Given the description of an element on the screen output the (x, y) to click on. 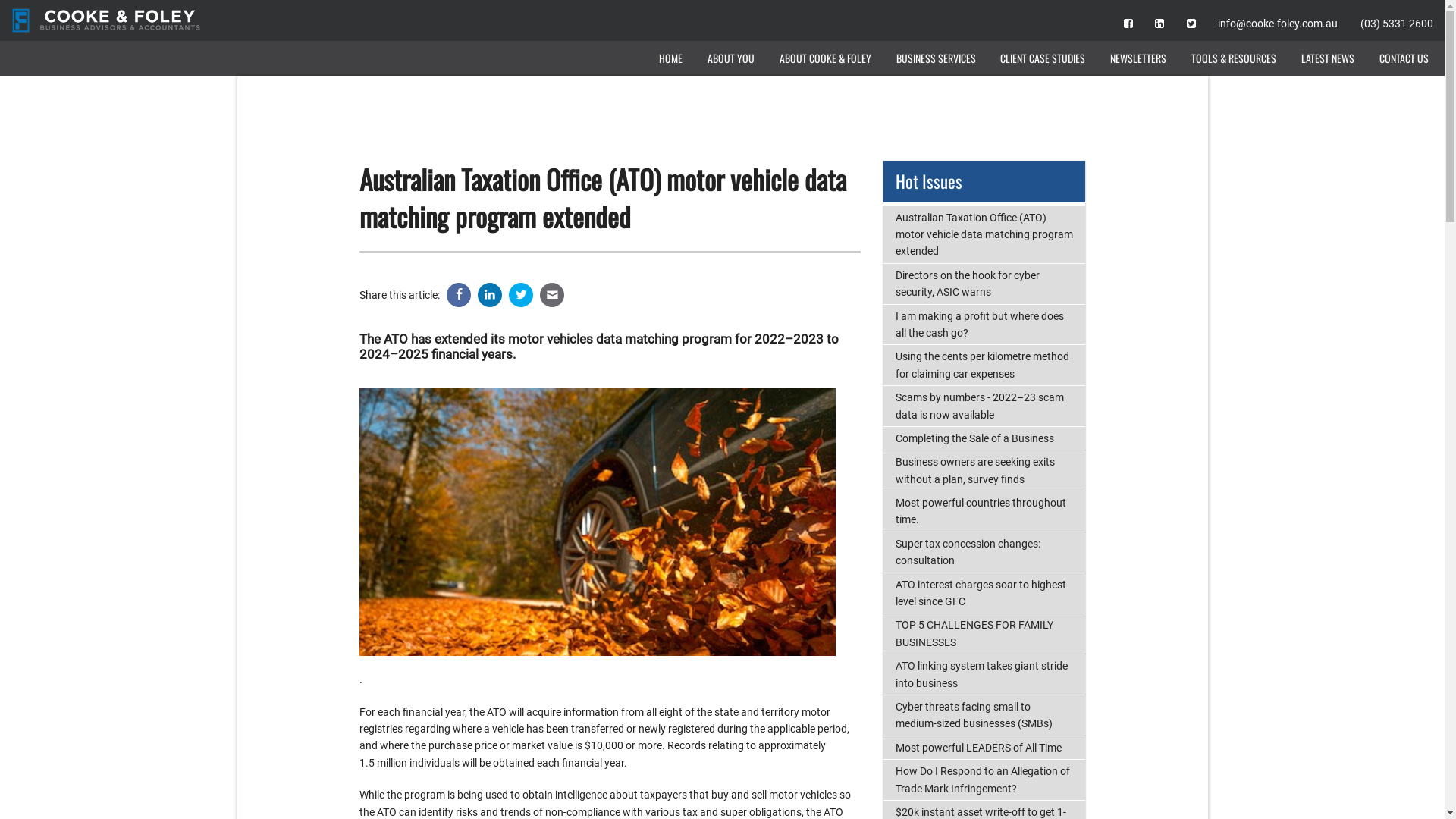
Cyber threats facing small to medium-sized businesses (SMBs) Element type: text (984, 715)
ATO linking system takes giant stride into business Element type: text (984, 674)
Most powerful countries throughout time. Element type: text (984, 511)
ABOUT YOU Element type: text (730, 57)
Directors on the hook for cyber security, ASIC warns Element type: text (984, 283)
CONTACT US Element type: text (1403, 57)
ATO interest charges soar to highest level since GFC Element type: text (984, 593)
TOP 5 CHALLENGES FOR FAMILY BUSINESSES Element type: text (984, 633)
ABOUT COOKE & FOLEY Element type: text (825, 57)
TOOLS & RESOURCES Element type: text (1233, 57)
HOME Element type: text (670, 57)
Most powerful LEADERS of All Time Element type: text (984, 747)
BUSINESS SERVICES Element type: text (935, 57)
Completing the Sale of a Business Element type: text (984, 437)
LATEST NEWS Element type: text (1326, 57)
I am making a profit but where does all the cash go? Element type: text (984, 324)
Super tax concession changes: consultation Element type: text (984, 552)
NEWSLETTERS Element type: text (1138, 57)
(03) 5331 2600 Element type: text (1396, 23)
info@cooke-foley.com.au Element type: text (1277, 23)
CLIENT CASE STUDIES Element type: text (1042, 57)
